Given the description of an element on the screen output the (x, y) to click on. 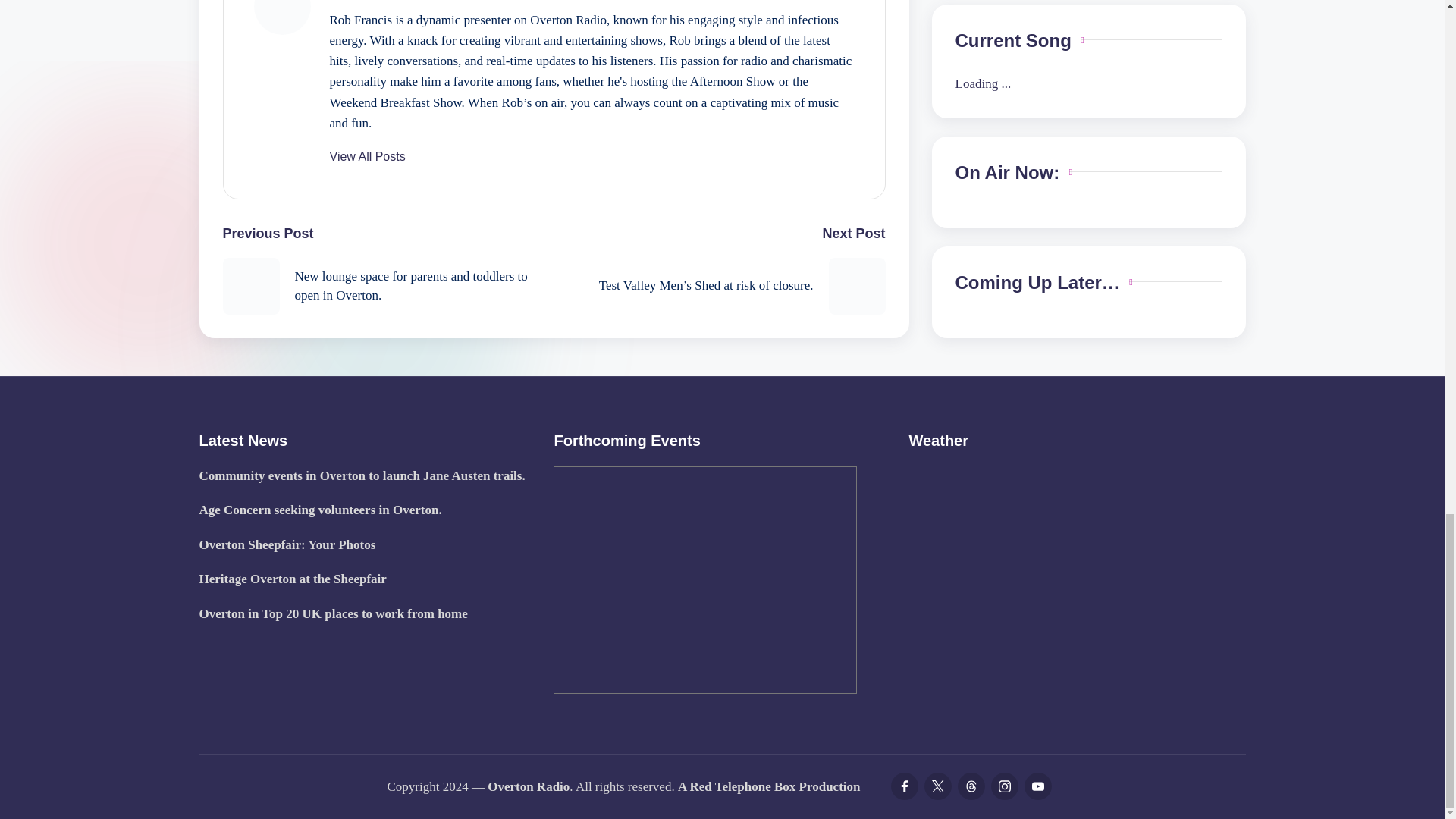
Facebook (903, 786)
